Given the description of an element on the screen output the (x, y) to click on. 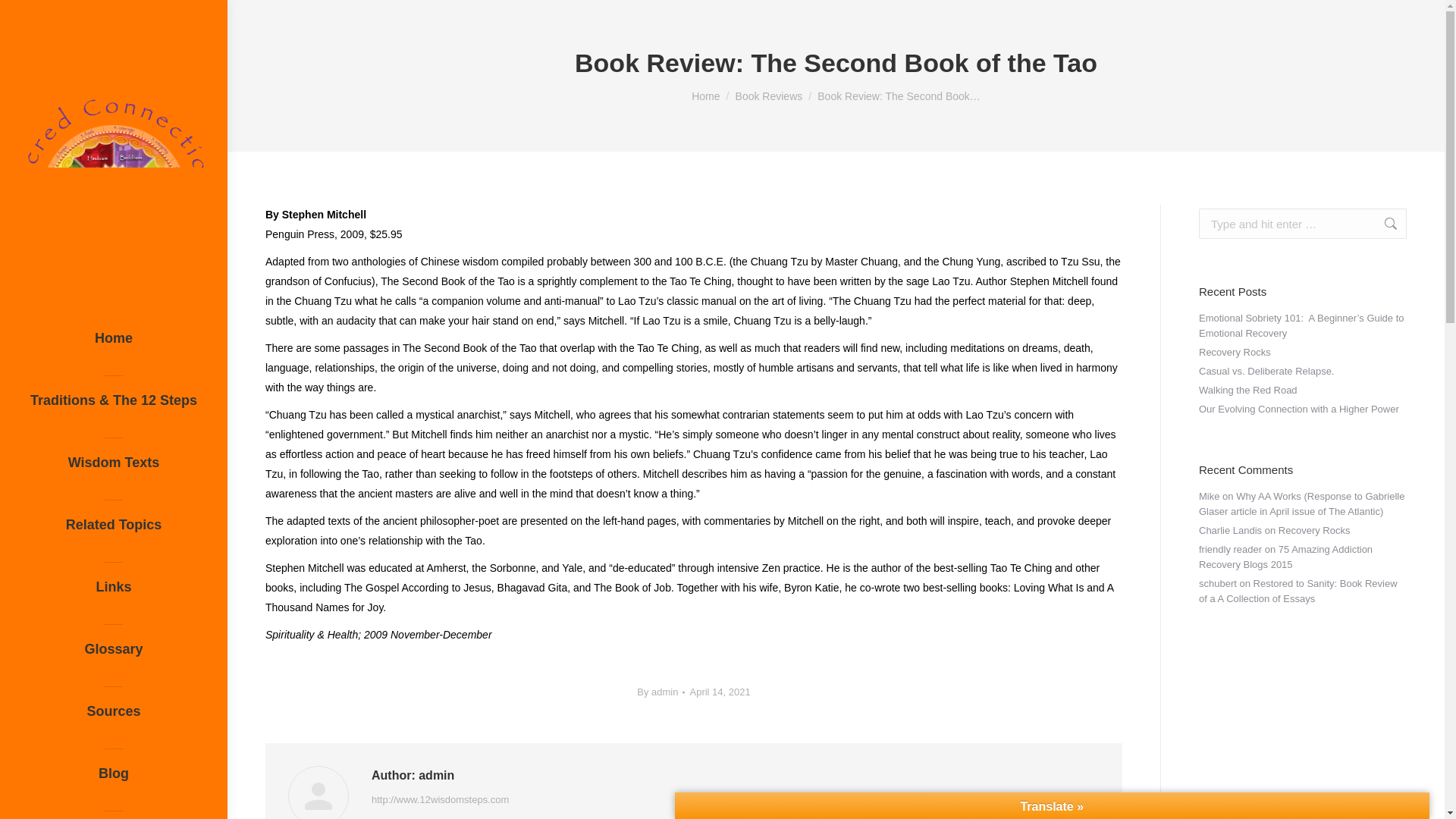
Go! (1382, 223)
Related Topics (113, 530)
Blog (113, 779)
Book Reviews (769, 96)
Home (113, 343)
Links (113, 592)
12:39 am (718, 691)
Go! (1382, 223)
Wisdom Texts (113, 468)
Home (705, 96)
